Given the description of an element on the screen output the (x, y) to click on. 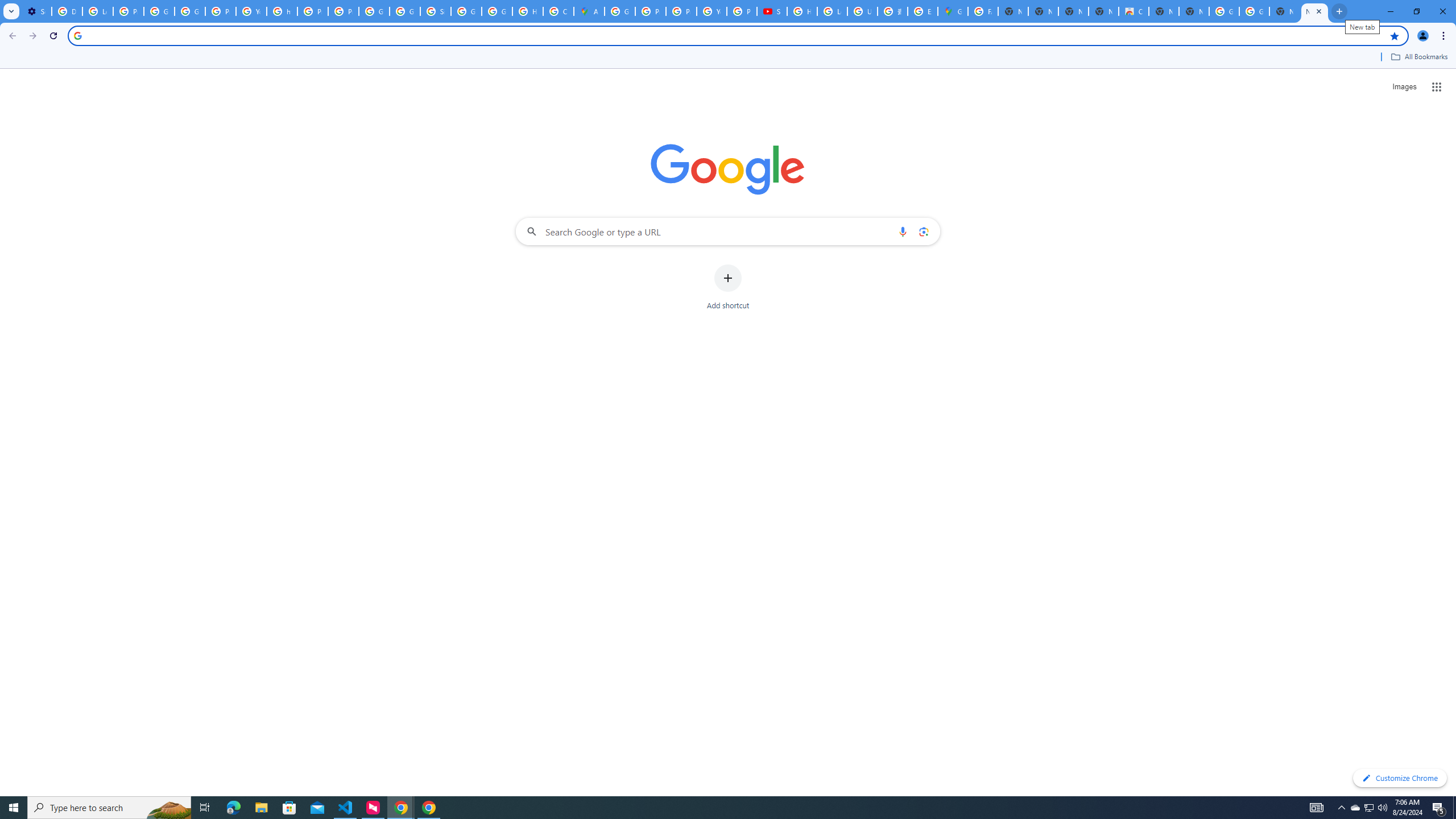
Explore new street-level details - Google Maps Help (922, 11)
How Chrome protects your passwords - Google Chrome Help (801, 11)
Privacy Help Center - Policies Help (312, 11)
YouTube (251, 11)
Privacy Help Center - Policies Help (681, 11)
